Given the description of an element on the screen output the (x, y) to click on. 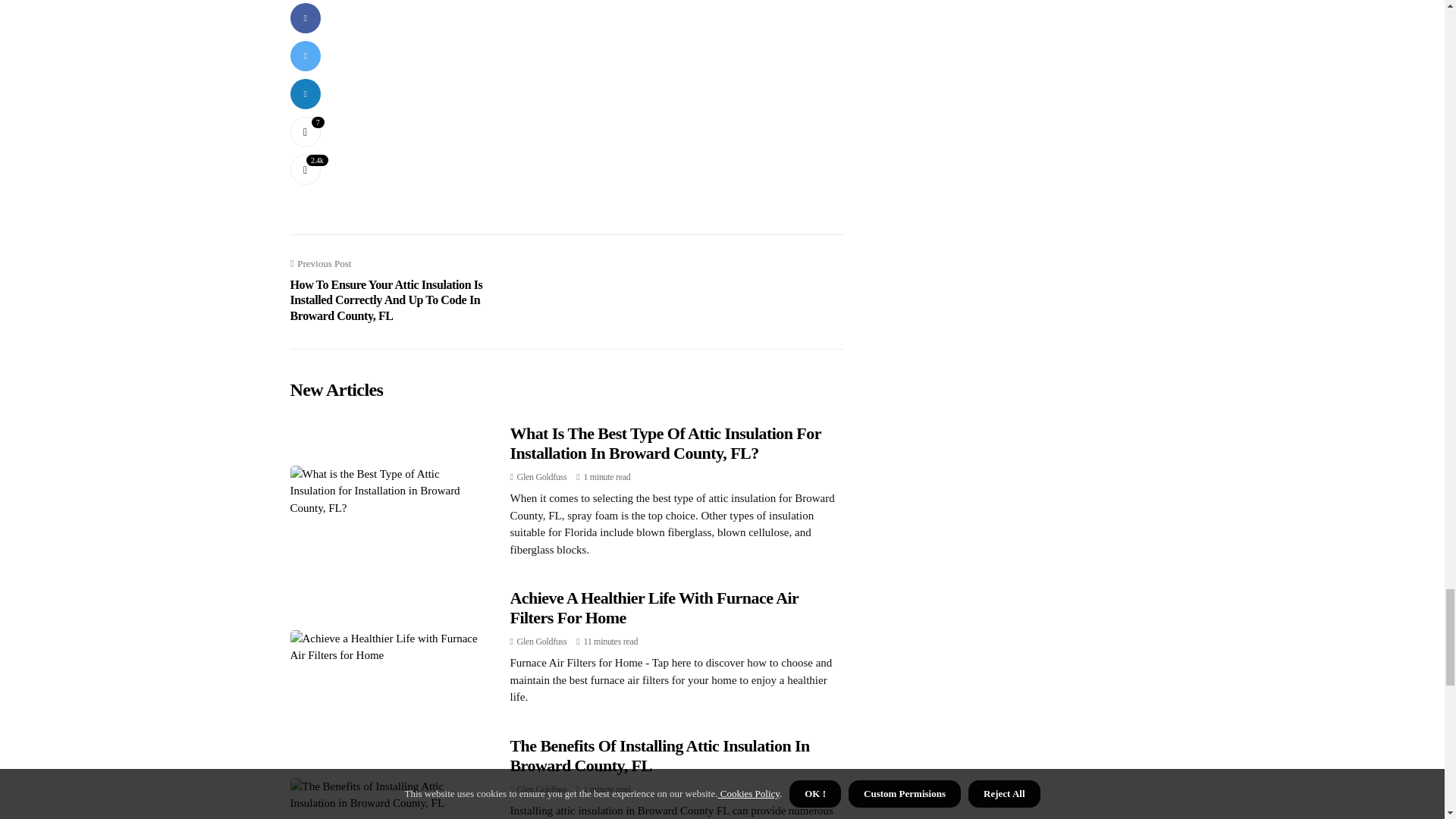
Posts by Glen Goldfuss (541, 788)
Posts by Glen Goldfuss (541, 641)
Glen Goldfuss (541, 476)
Posts by Glen Goldfuss (541, 476)
Glen Goldfuss (541, 641)
Glen Goldfuss (541, 788)
Achieve A Healthier Life With Furnace Air Filters For Home (653, 607)
